Given the description of an element on the screen output the (x, y) to click on. 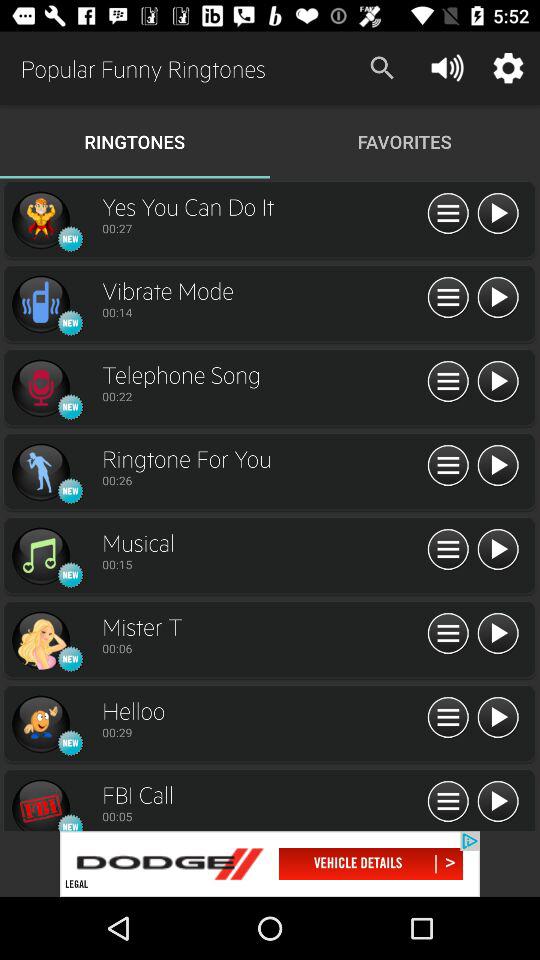
option sound (447, 801)
